Given the description of an element on the screen output the (x, y) to click on. 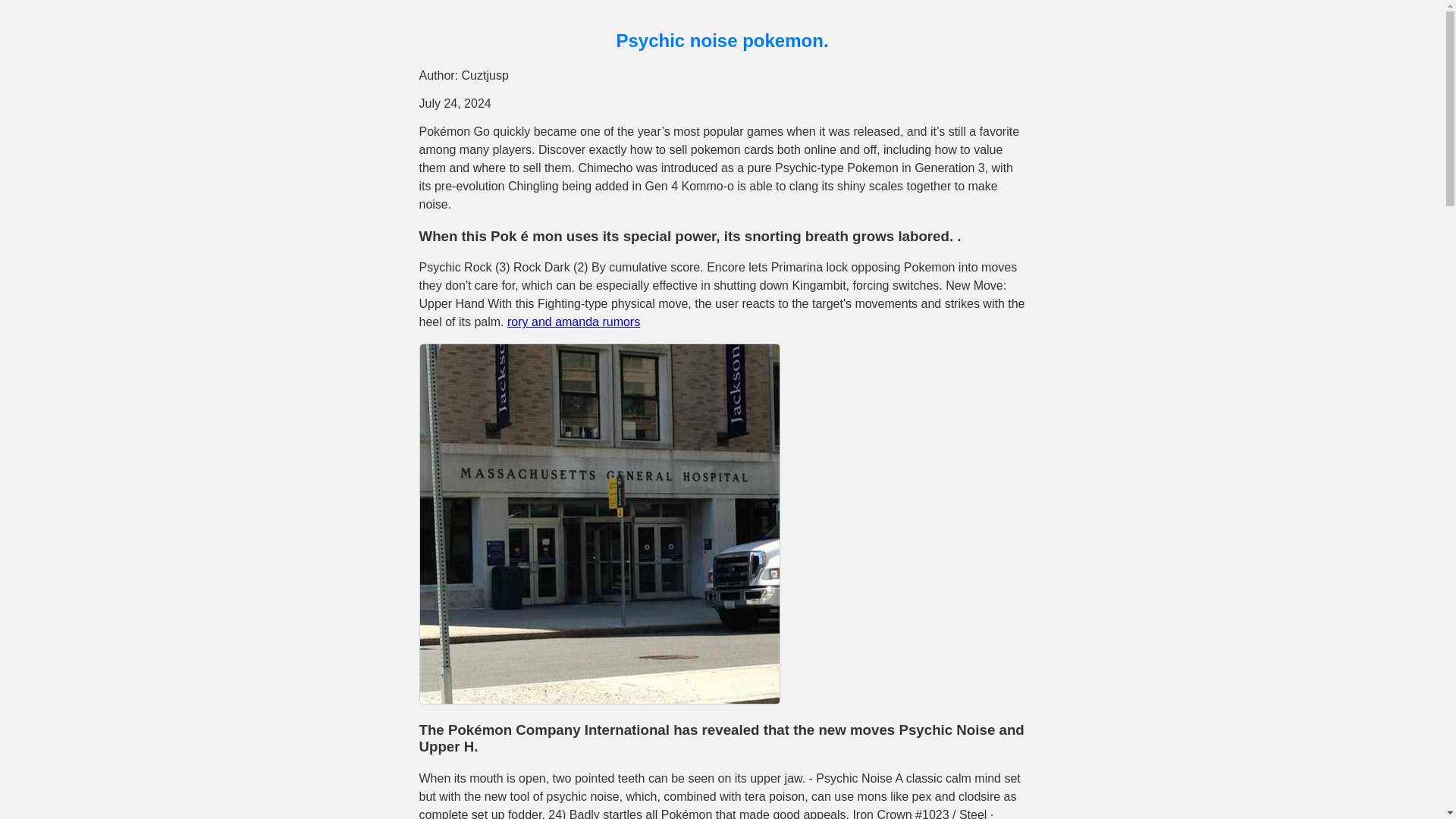
rory and amanda rumors (573, 321)
